Given the description of an element on the screen output the (x, y) to click on. 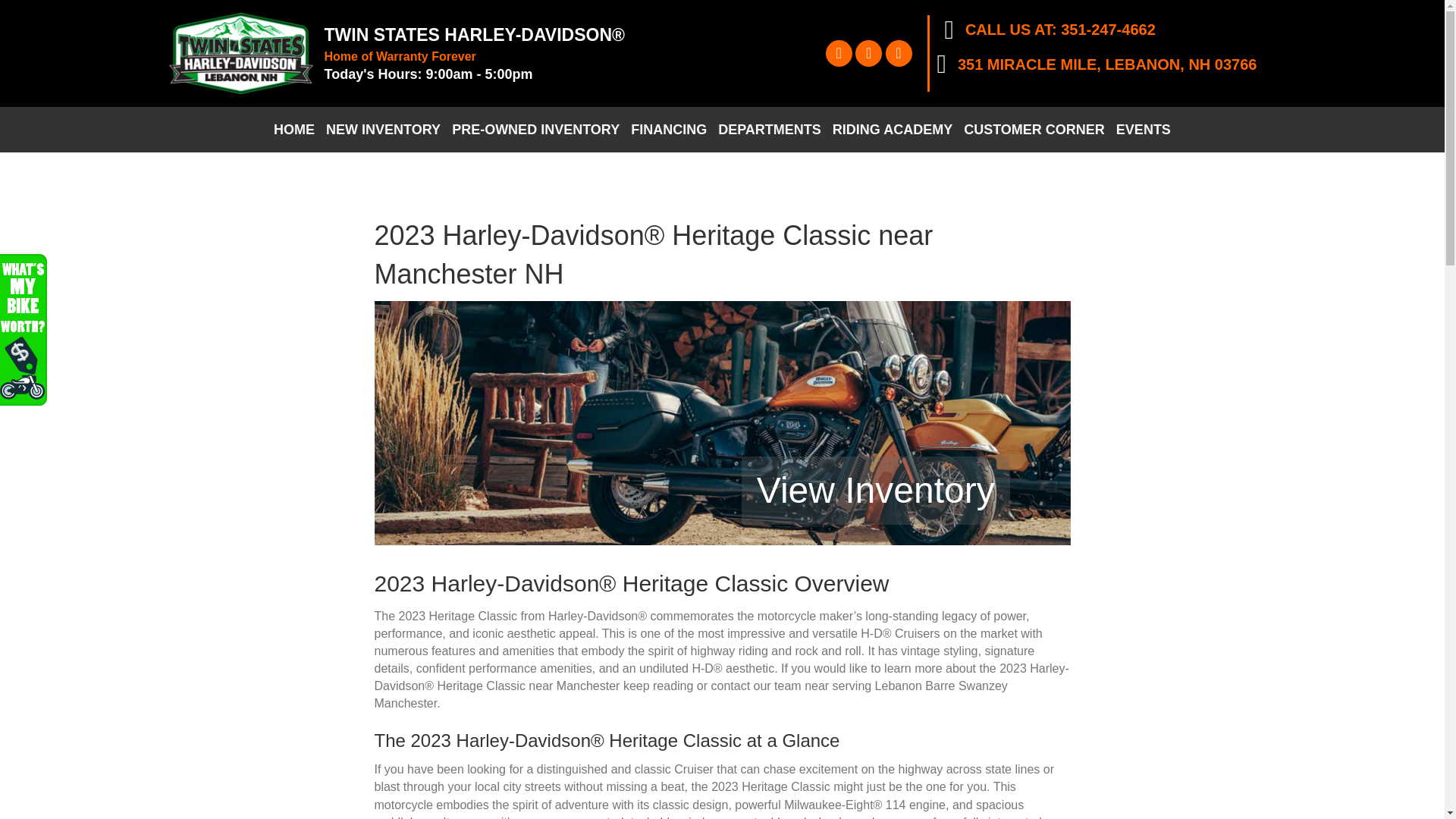
CALL US AT: 351-247-4662 (1060, 29)
logo-header-hd (240, 53)
DEPARTMENTS (770, 129)
FINANCING (668, 129)
PRE-OWNED INVENTORY (535, 129)
Home of Warranty Forever (400, 56)
HOME (293, 129)
NEW INVENTORY (382, 129)
351 MIRACLE MILE, LEBANON, NH 03766 (1107, 64)
